Given the description of an element on the screen output the (x, y) to click on. 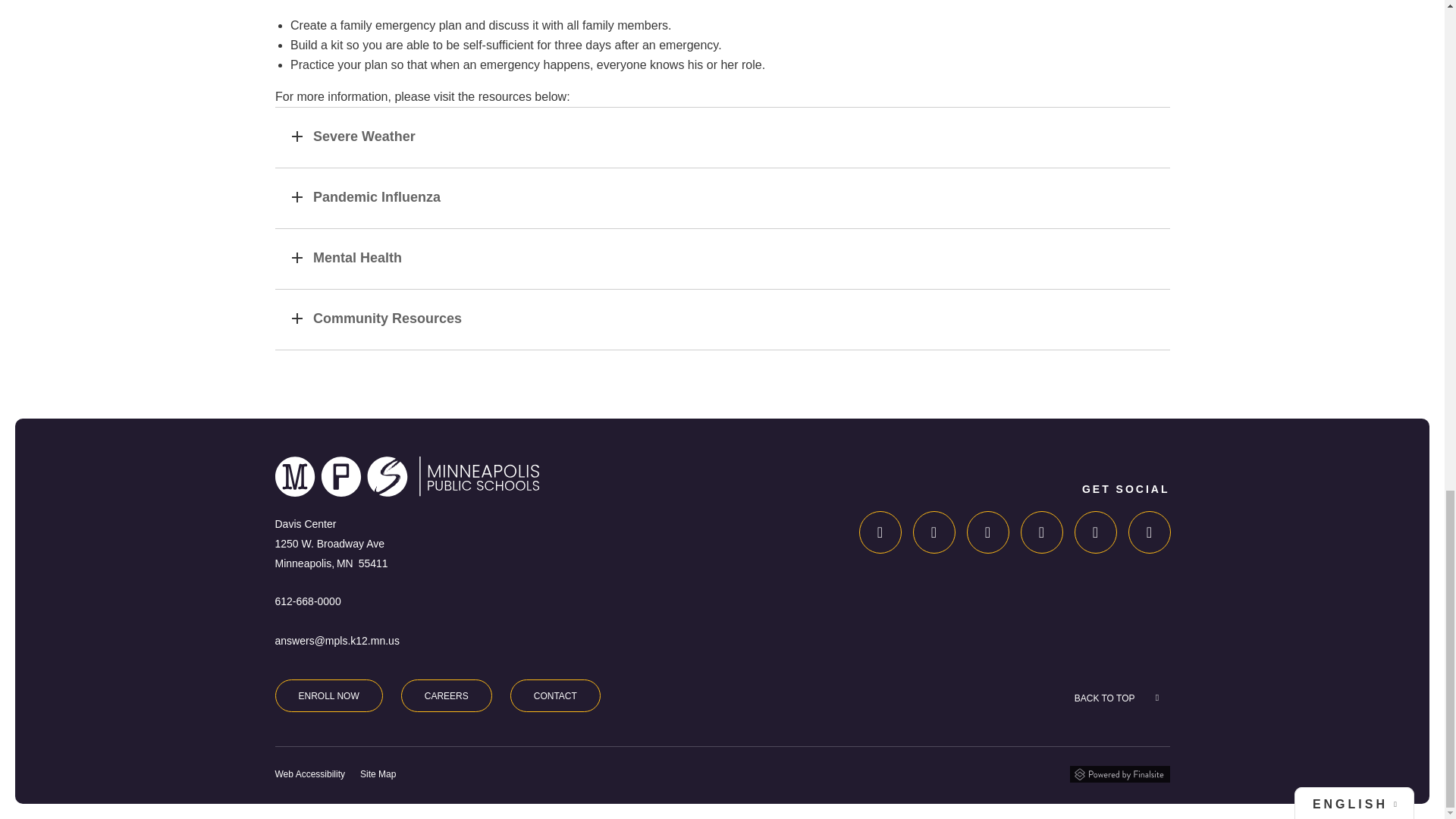
Email (336, 640)
Powered by Finalsite opens in a new window (1118, 773)
